Given the description of an element on the screen output the (x, y) to click on. 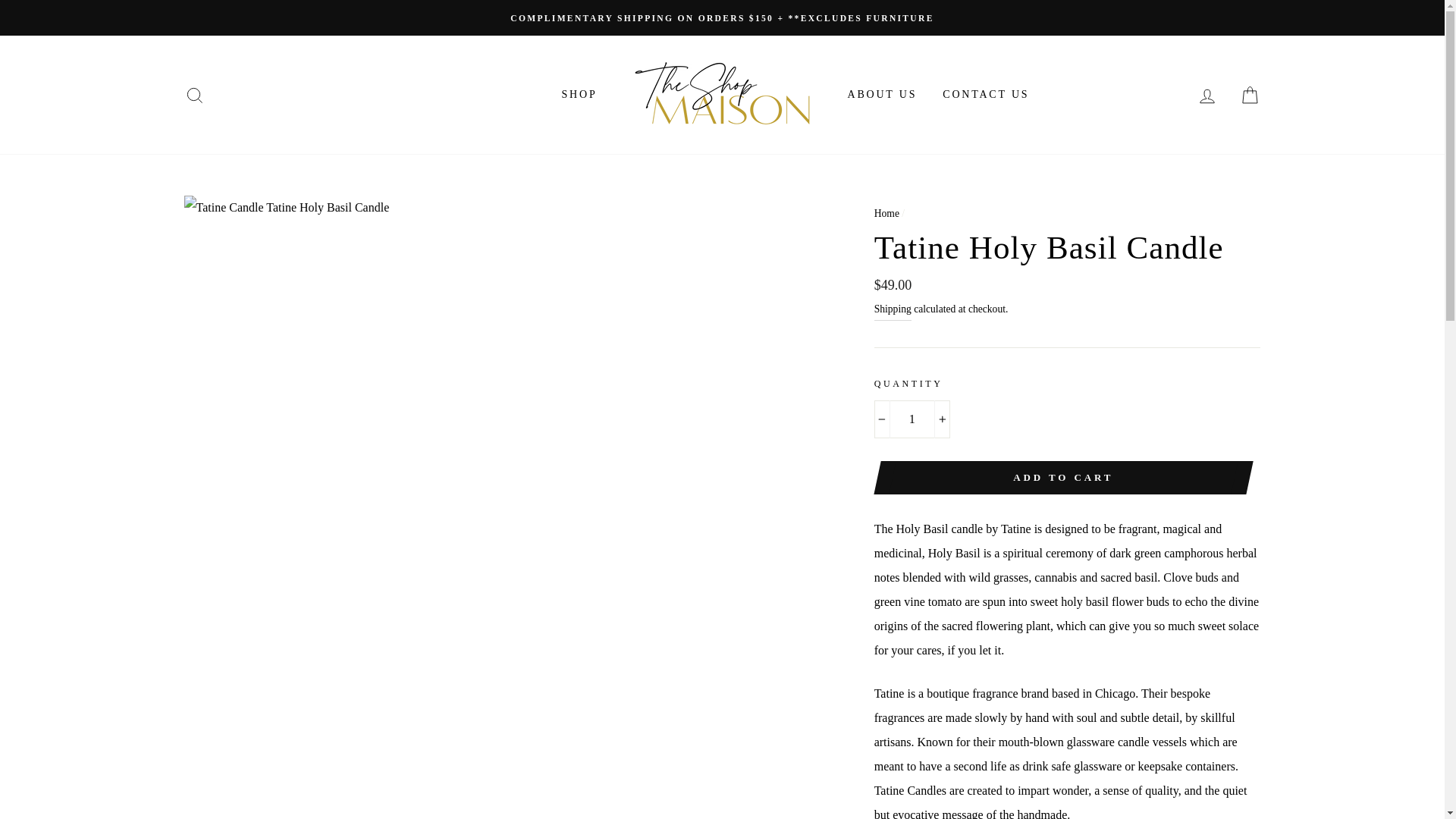
1 (912, 419)
Back to the frontpage (887, 213)
